Given the description of an element on the screen output the (x, y) to click on. 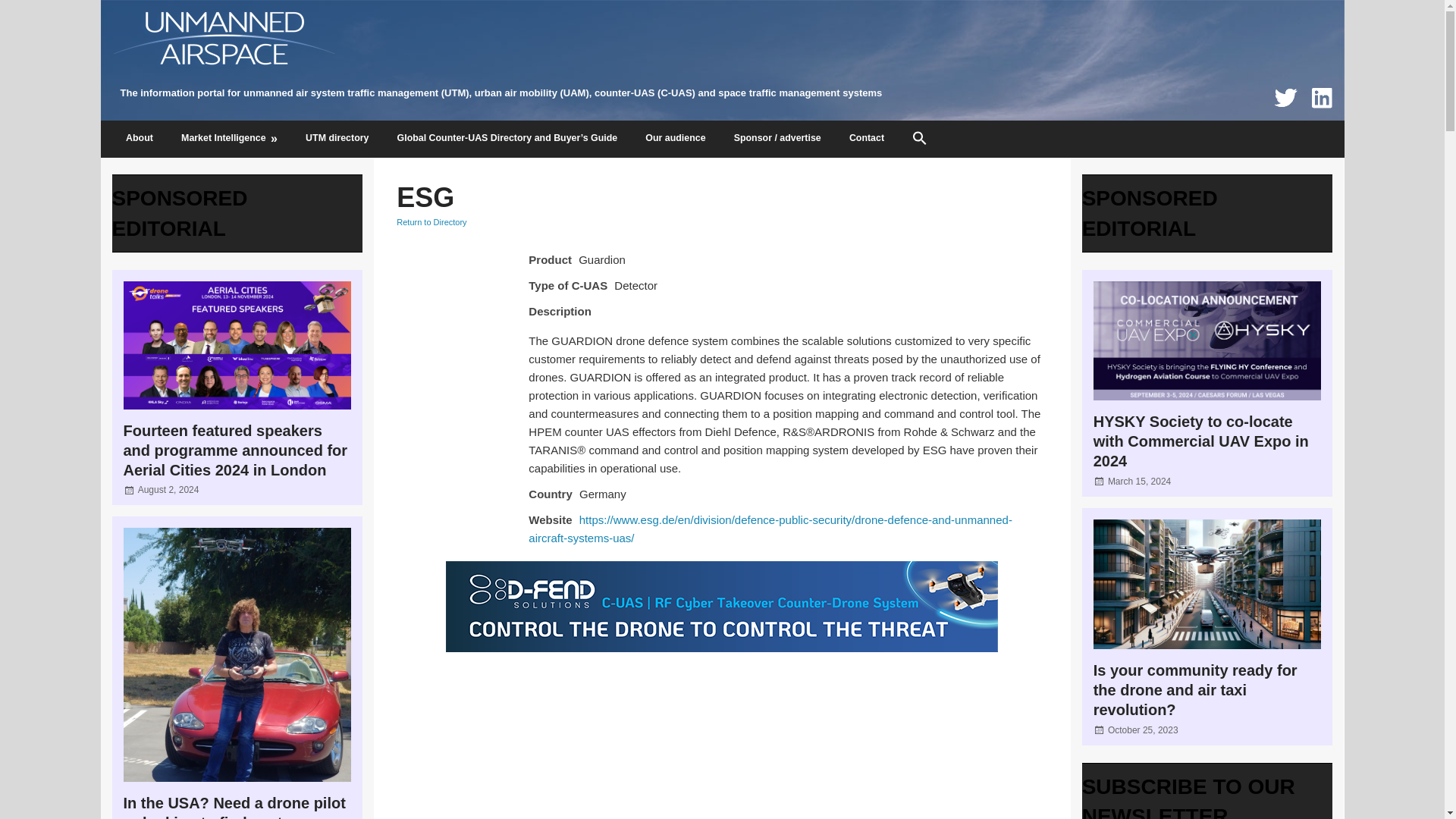
View all posts from category Sponsored editorial 2 (1149, 212)
Our audience (675, 138)
Market Intelligence (229, 138)
2:01 pm (168, 489)
UTM directory (338, 138)
SPONSORED EDITORIAL (179, 212)
About (139, 138)
View all posts from category Sponsored editorial 1 (179, 212)
